Given the description of an element on the screen output the (x, y) to click on. 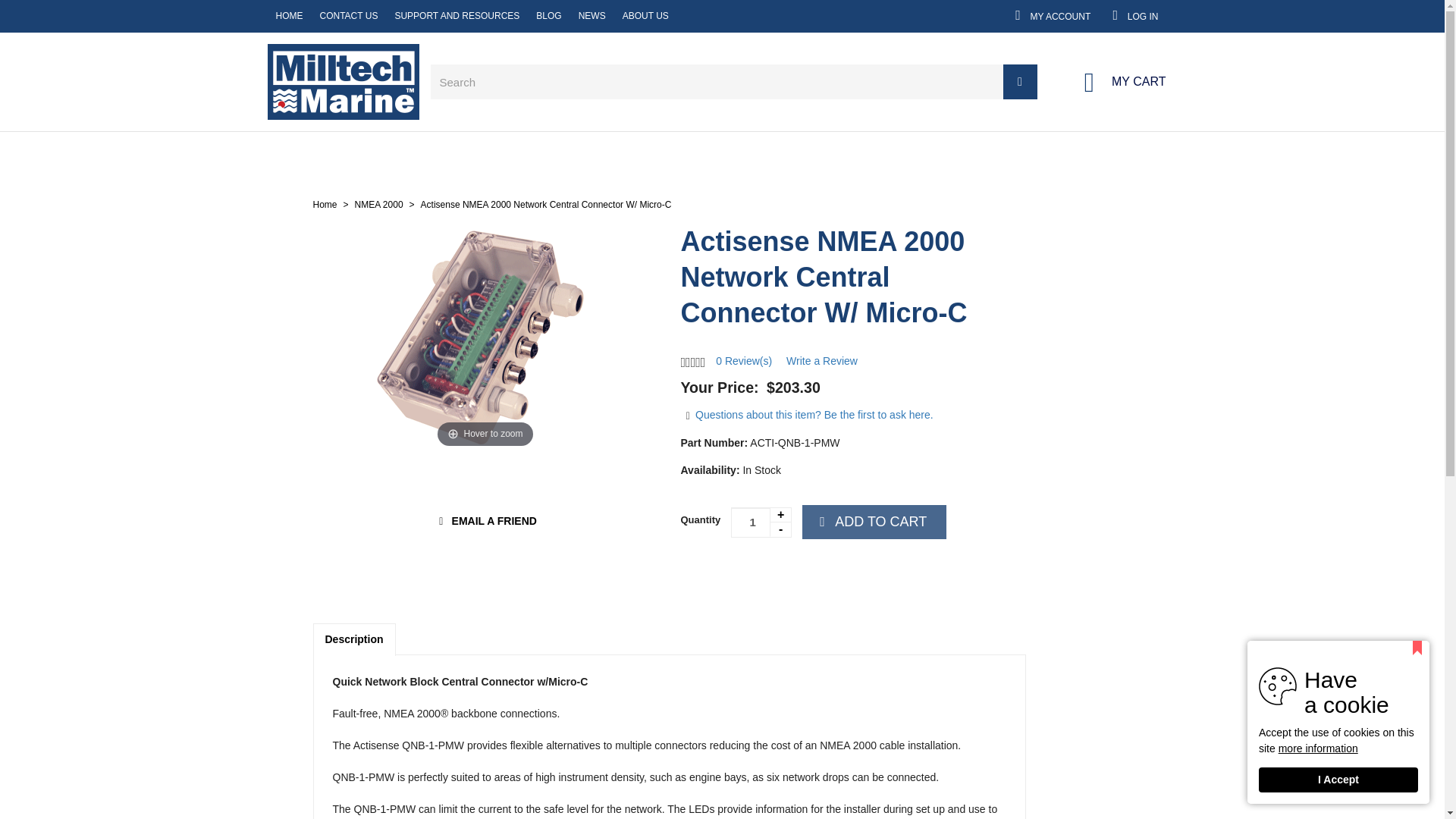
1 (761, 521)
LiveChat chat widget (1412, 787)
BLOG (253, 15)
NEWS (1235, 15)
ABOUT US (1145, 15)
SUPPORT AND RESOURCES (334, 15)
